Given the description of an element on the screen output the (x, y) to click on. 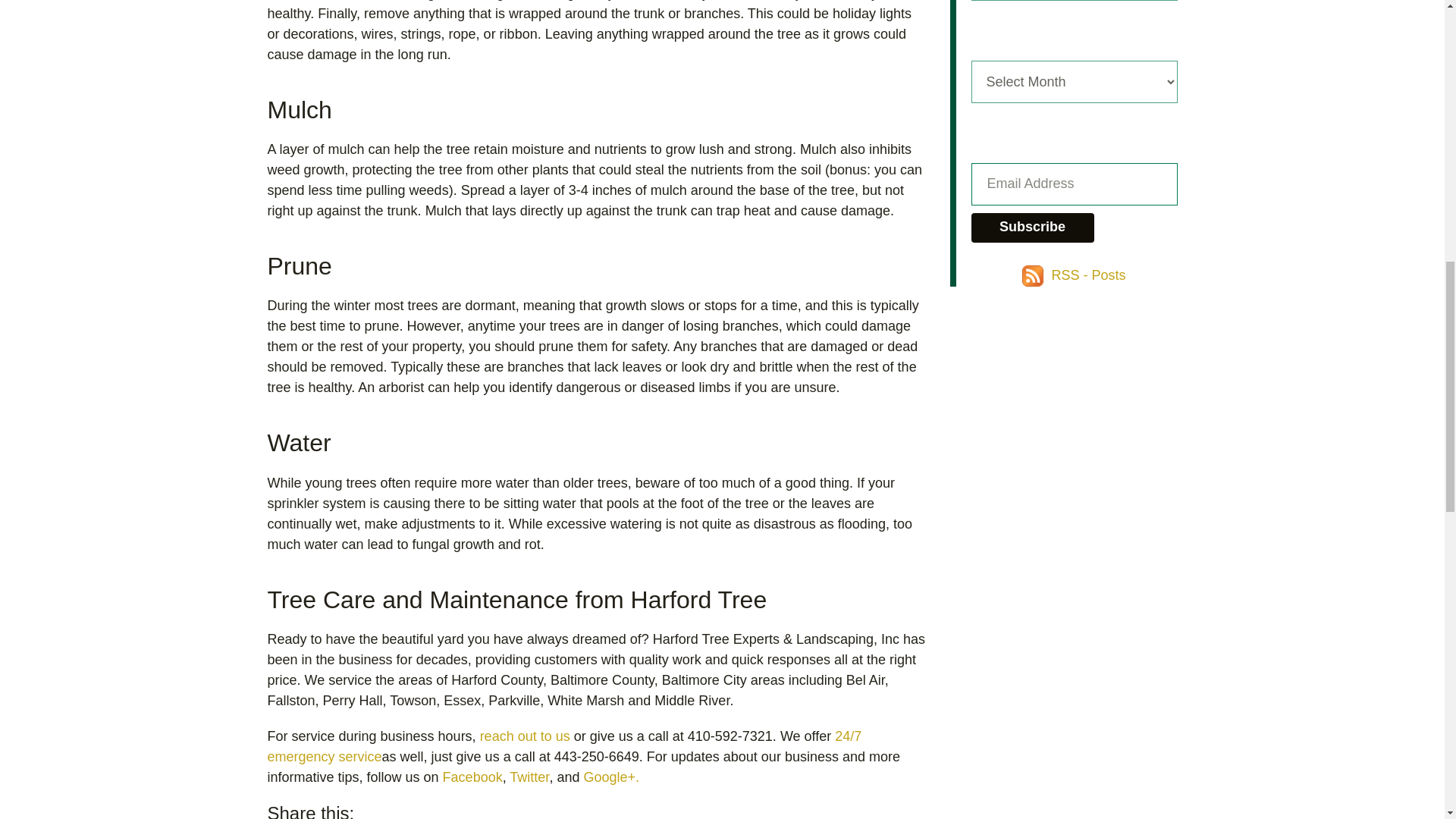
Facebook (472, 776)
Subscribe to posts (1073, 274)
Twitter (528, 776)
reach out to us (525, 735)
